Given the description of an element on the screen output the (x, y) to click on. 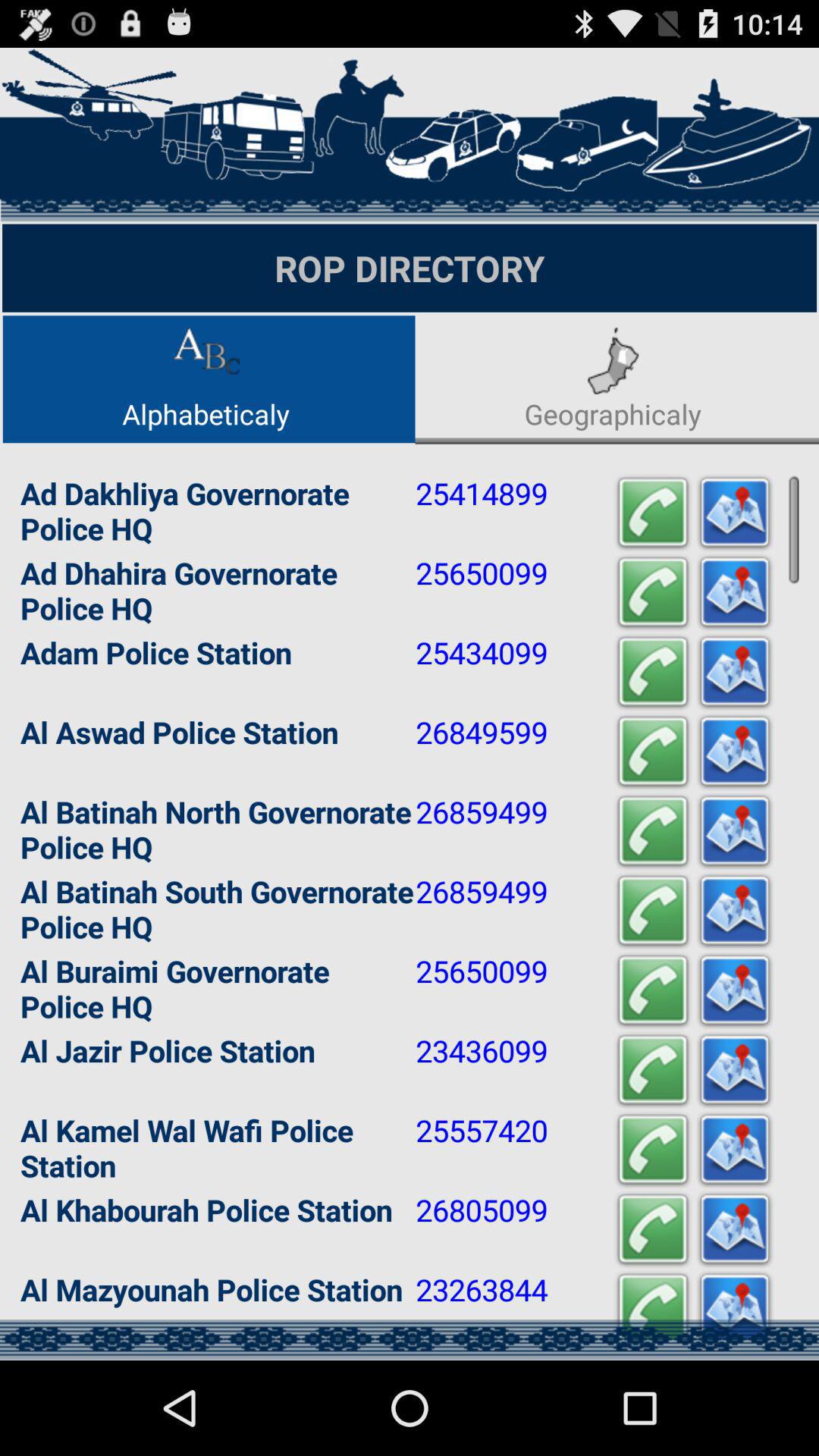
call button (652, 512)
